Given the description of an element on the screen output the (x, y) to click on. 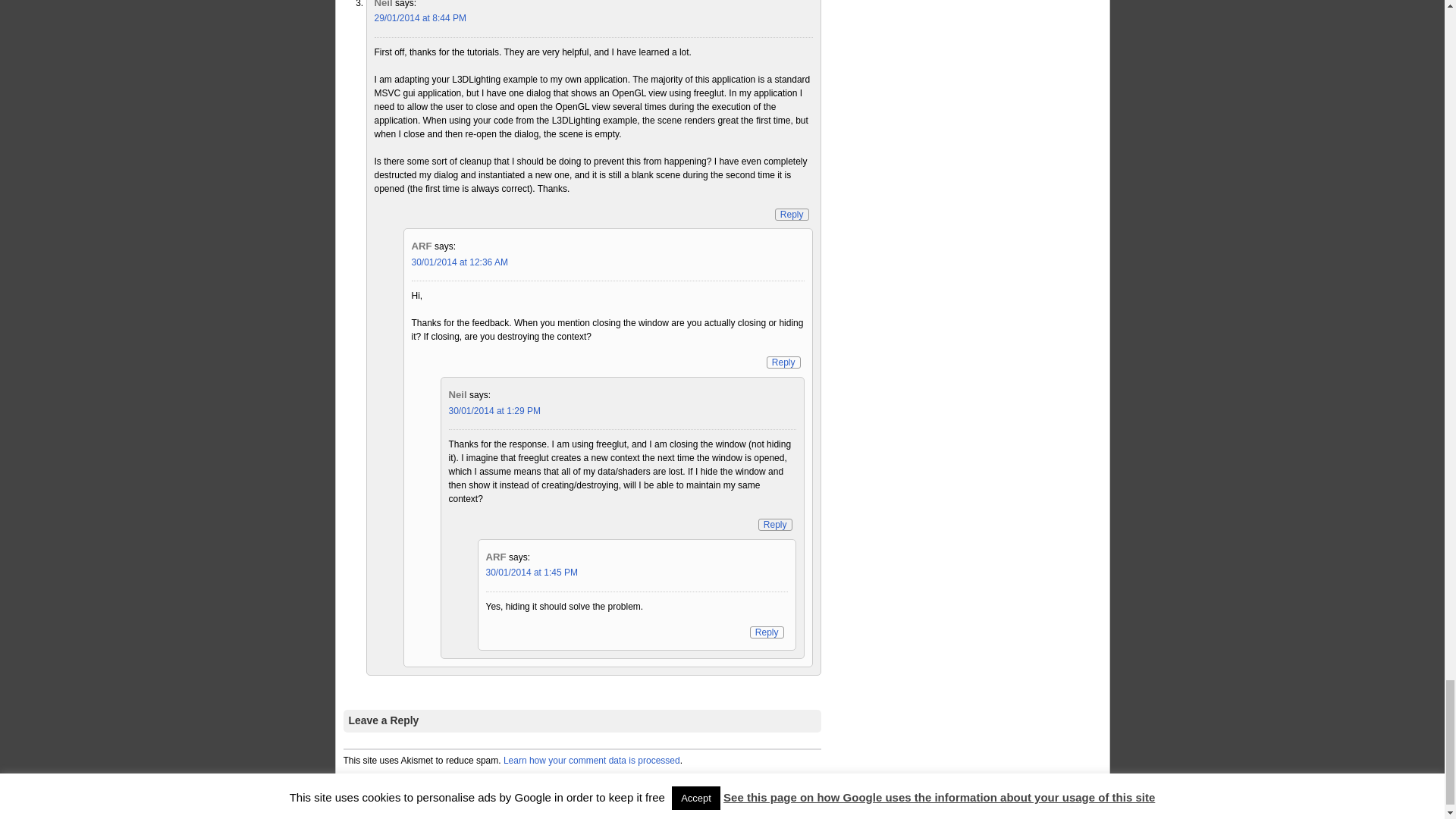
Reply (775, 524)
Reply (791, 214)
Reply (783, 362)
Reply (766, 632)
Learn how your comment data is processed (591, 760)
